Given the description of an element on the screen output the (x, y) to click on. 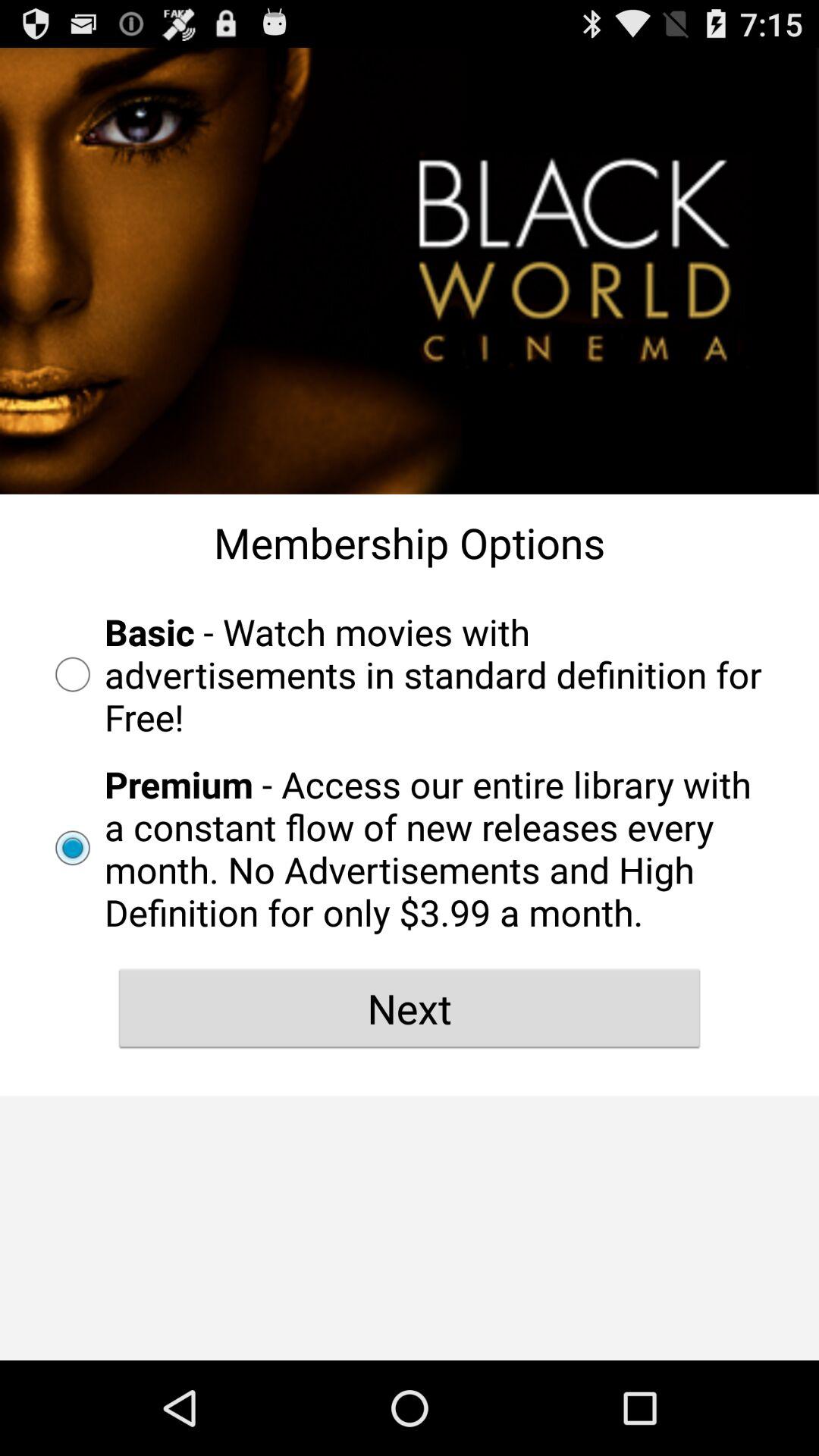
tap the app below the membership options (409, 674)
